Given the description of an element on the screen output the (x, y) to click on. 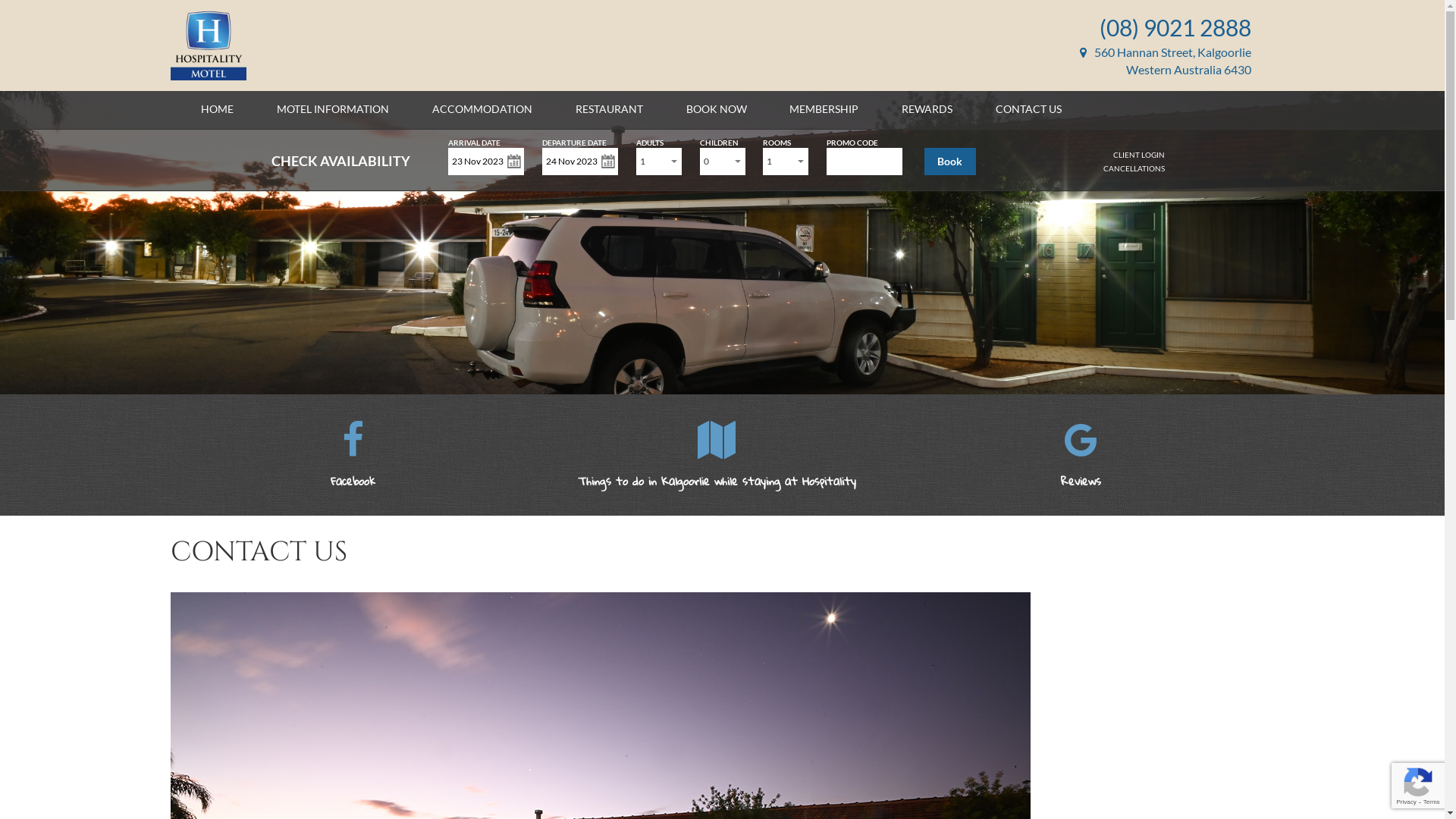
CLIENT LOGIN Element type: text (1138, 154)
Reviews Element type: text (1080, 496)
(08) 9021 2888 Element type: text (1175, 26)
REWARDS Element type: text (926, 109)
MEMBERSHIP Element type: text (823, 109)
560 Hannan Street, Kalgoorlie
Western Australia 6430 Element type: text (1165, 60)
CONTACT US Element type: text (1028, 109)
BOOK NOW Element type: text (716, 109)
Facebook Element type: text (352, 465)
MOTEL INFORMATION Element type: text (332, 109)
Things to do in Kalgoorlie while staying at Hospitality Element type: text (716, 465)
Book Element type: text (949, 161)
ACCOMMODATION Element type: text (482, 109)
HOME Element type: text (216, 109)
CANCELLATIONS Element type: text (1133, 167)
RESTAURANT Element type: text (609, 109)
